Given the description of an element on the screen output the (x, y) to click on. 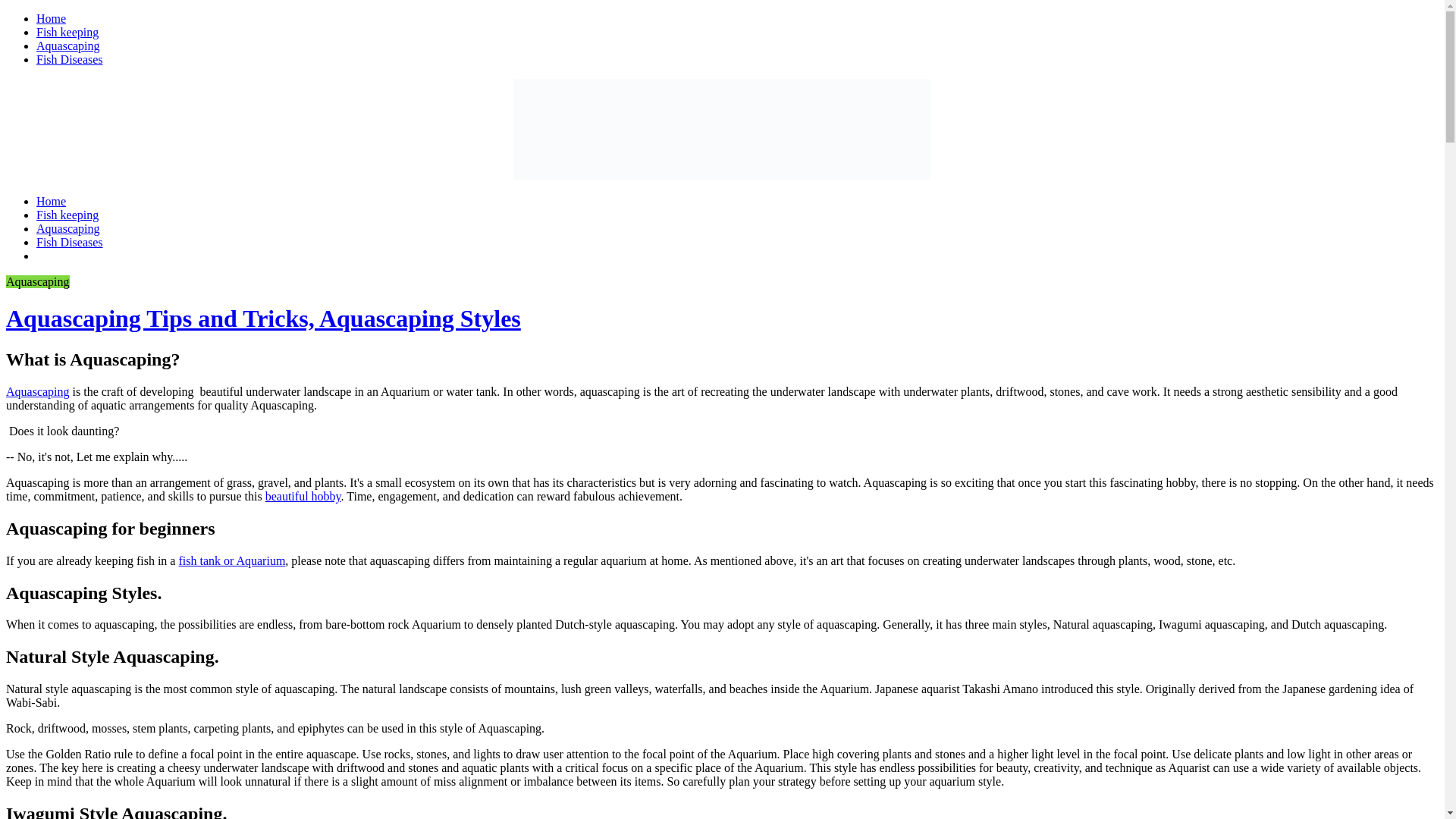
beautiful hobby (302, 495)
Home (50, 201)
Fish keeping (67, 31)
Aquascaping Tips and Tricks, Aquascaping Styles (263, 318)
Fish Diseases (69, 59)
Fish Diseases (69, 241)
Aquascaping (68, 228)
Home (50, 18)
Aquascaping (68, 45)
Aquascaping (37, 391)
fish tank or Aquarium (231, 560)
Fish keeping (67, 214)
